Given the description of an element on the screen output the (x, y) to click on. 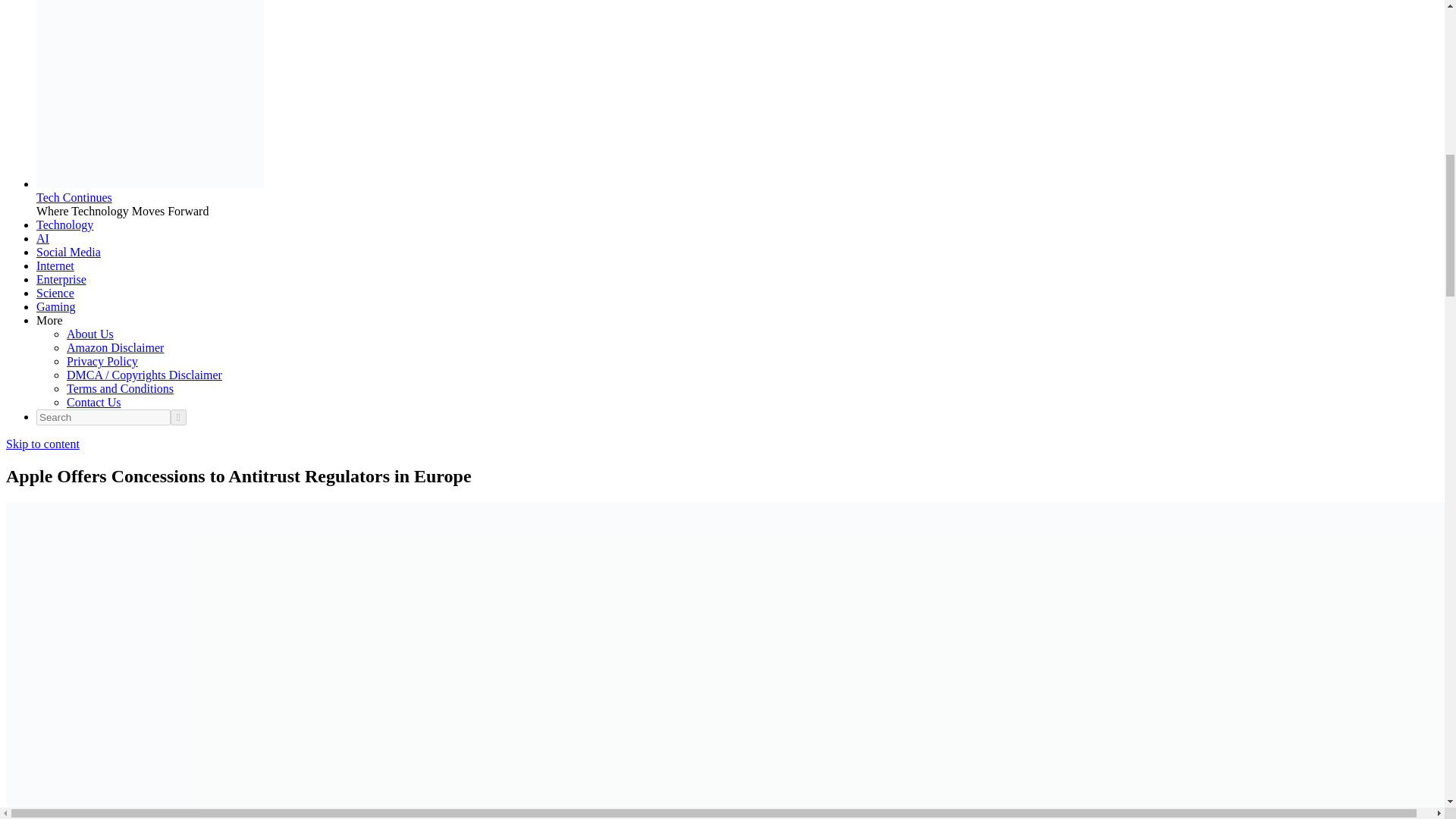
Enterprise (60, 278)
Technology (64, 224)
Internet (55, 265)
AI (42, 237)
Amazon Disclaimer (114, 347)
More (49, 319)
Science (55, 292)
About Us (89, 333)
Skip to content (42, 443)
Privacy Policy (102, 360)
Social Media (68, 251)
Terms and Conditions (119, 388)
Contact Us (93, 401)
Tech Continues (74, 196)
Gaming (55, 306)
